Given the description of an element on the screen output the (x, y) to click on. 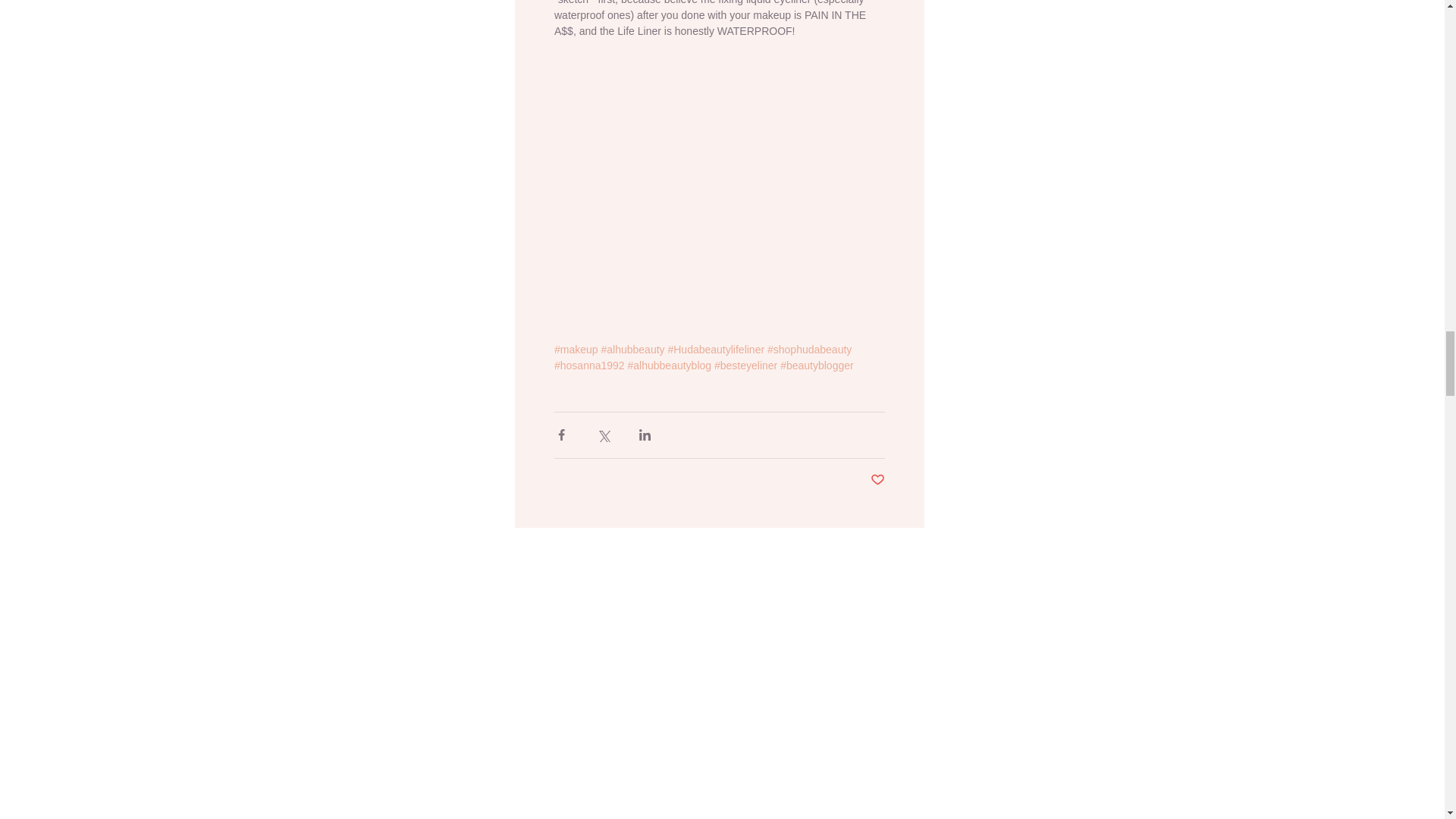
Post not marked as liked (877, 480)
